Given the description of an element on the screen output the (x, y) to click on. 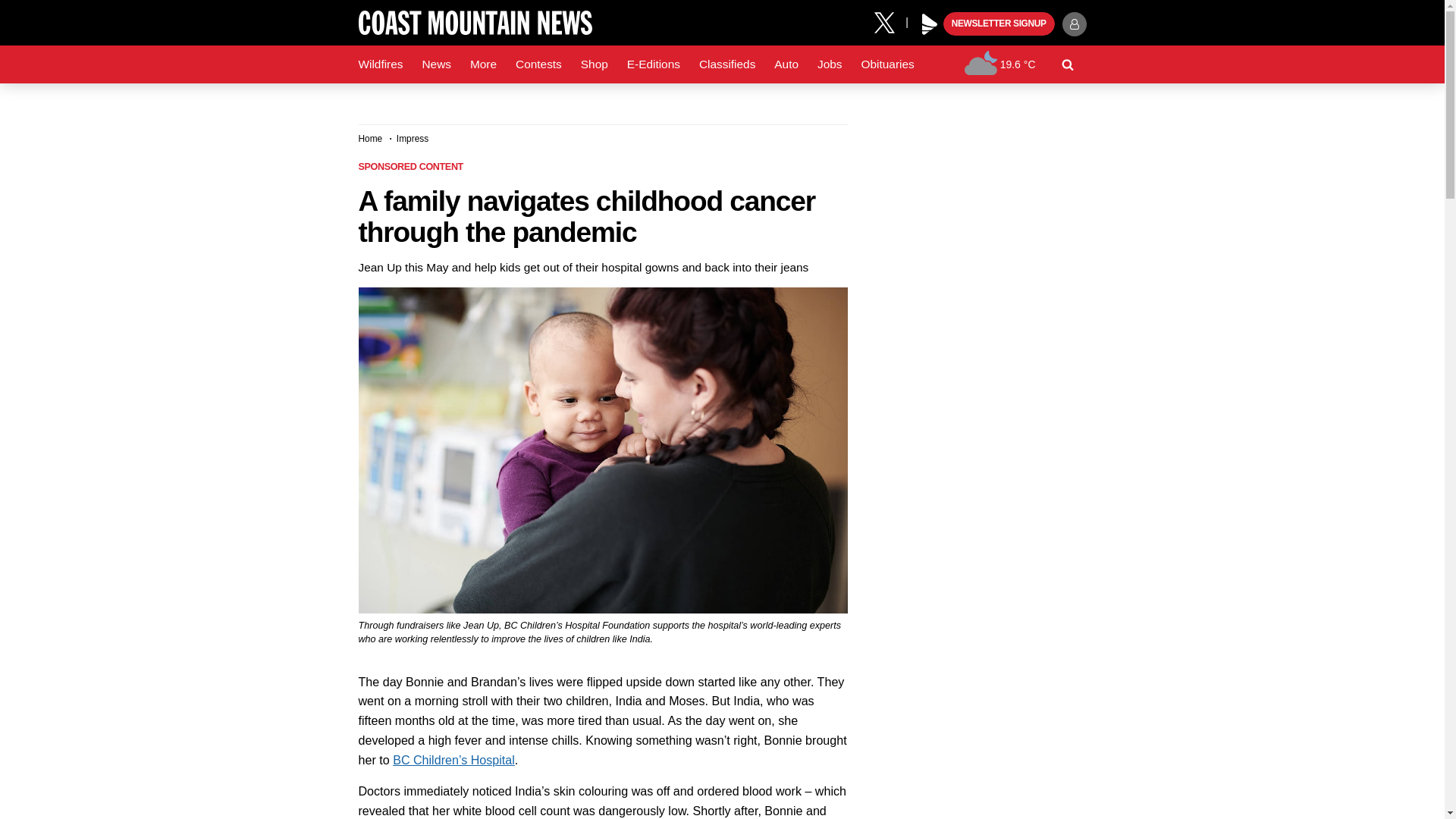
News (435, 64)
NEWSLETTER SIGNUP (998, 24)
Black Press Media (929, 24)
Play (929, 24)
X (889, 21)
Wildfires (380, 64)
